Given the description of an element on the screen output the (x, y) to click on. 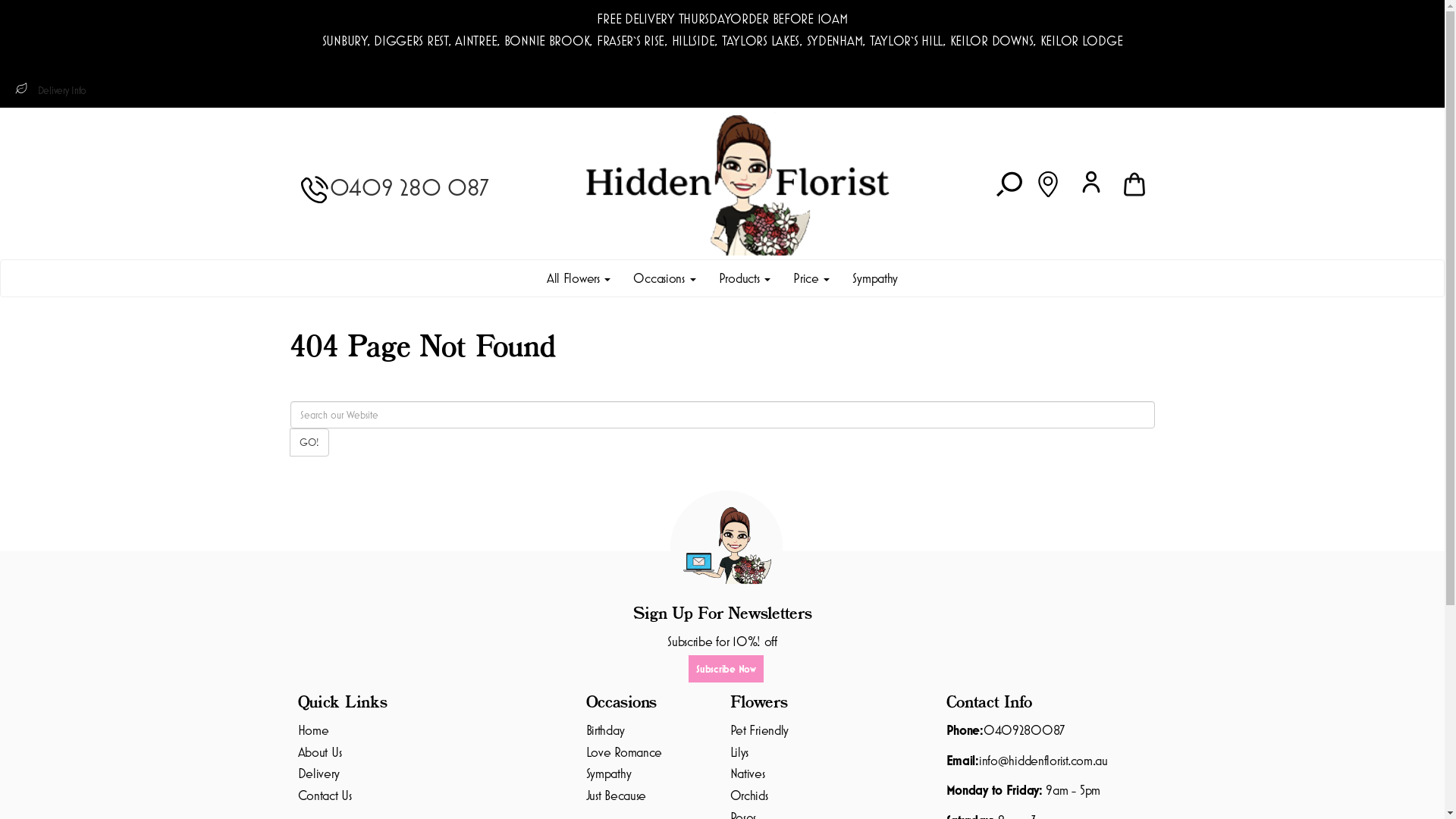
Lilys Element type: text (738, 751)
Sympathy Element type: text (874, 278)
Orchids Element type: text (748, 795)
All Flowers Element type: text (578, 278)
GO! Element type: text (309, 441)
Cart Element type: hover (1133, 182)
Hidden Florist Element type: hover (736, 181)
Pet Friendly Element type: text (758, 729)
Sympathy Element type: text (607, 773)
About Us Element type: text (319, 751)
Birthday Element type: text (604, 729)
Delivery Element type: text (317, 773)
Just Because Element type: text (615, 795)
0409 280 087 Element type: text (409, 186)
Products Element type: text (744, 278)
Love Romance Element type: text (623, 751)
0409280087 Element type: text (1023, 729)
Subscribe Now Element type: text (725, 668)
Contact Us Element type: text (324, 795)
Price Element type: text (810, 278)
search_right [#1505] Created with Sketch. Element type: text (1014, 182)
Home Element type: text (312, 729)
Natives Element type: text (746, 773)
Delivery Info Element type: text (61, 90)
Occasions Element type: text (663, 278)
info@hiddenflorist.com.au Element type: text (1043, 760)
